Given the description of an element on the screen output the (x, y) to click on. 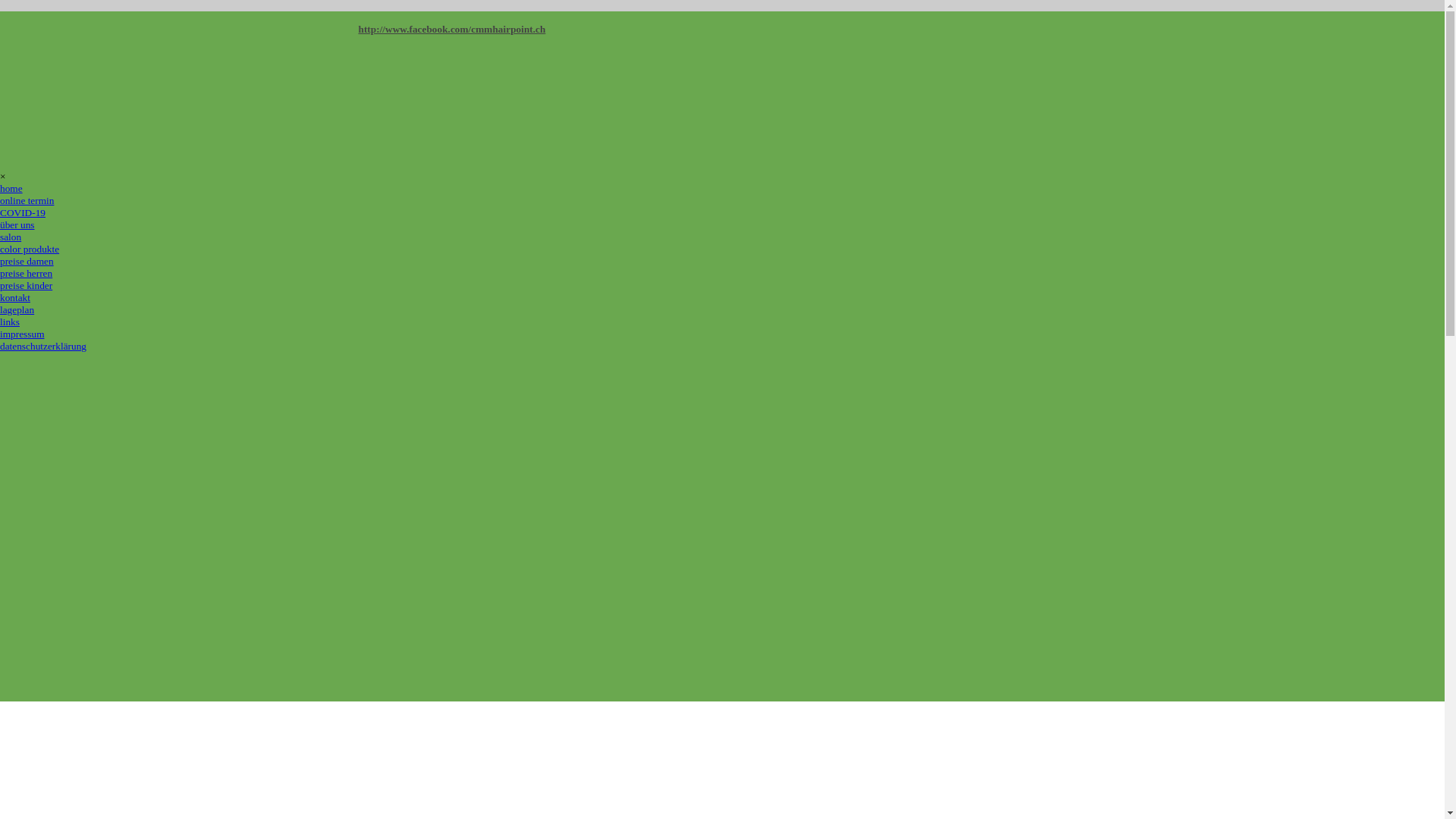
preise damen Element type: text (26, 260)
impressum Element type: text (22, 333)
links Element type: text (9, 321)
home Element type: text (11, 188)
online termin Element type: text (26, 200)
salon Element type: text (10, 236)
color produkte Element type: text (29, 248)
http://www.facebook.com/cmmhairpoint.ch Element type: text (451, 28)
preise kinder Element type: text (26, 285)
COVID-19 Element type: text (22, 212)
lageplan Element type: text (17, 309)
preise herren Element type: text (26, 273)
kontakt Element type: text (15, 297)
